Given the description of an element on the screen output the (x, y) to click on. 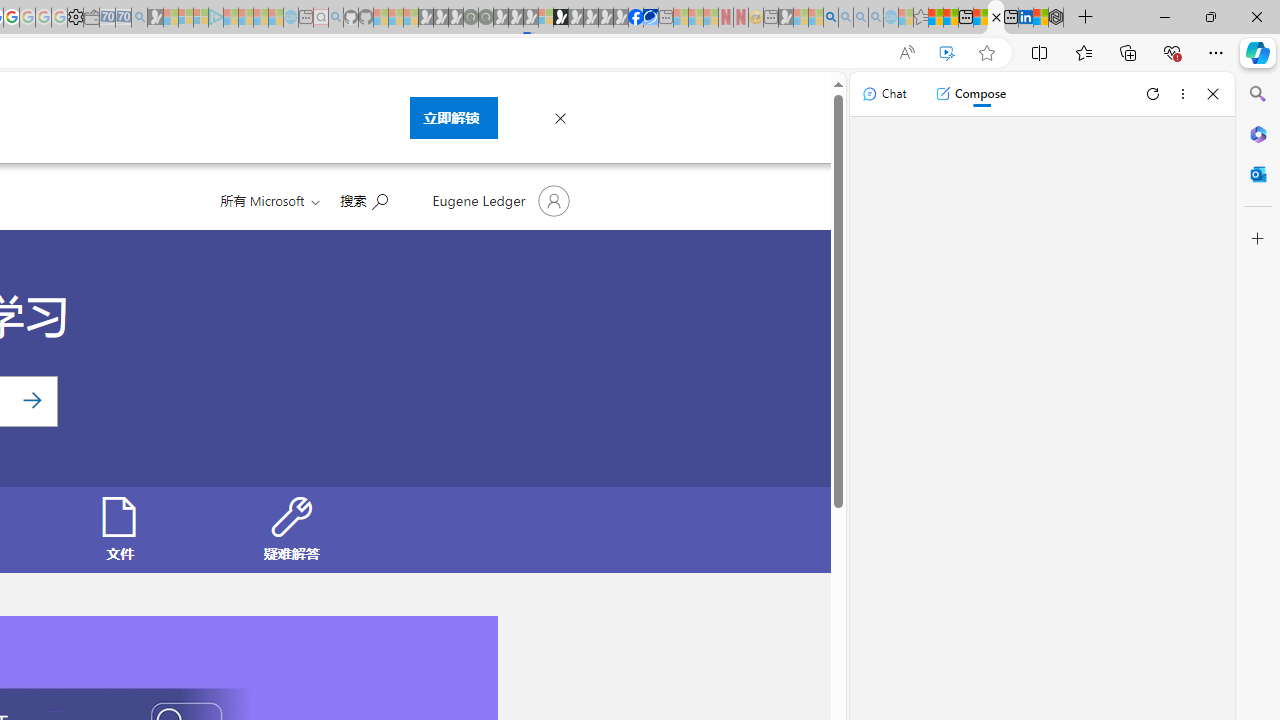
Nordace | Facebook (635, 17)
Add this page to favorites (Ctrl+D) (986, 53)
Wallet - Sleeping (91, 17)
Microsoft account | Privacy - Sleeping (201, 17)
Close tab (996, 16)
